Given the description of an element on the screen output the (x, y) to click on. 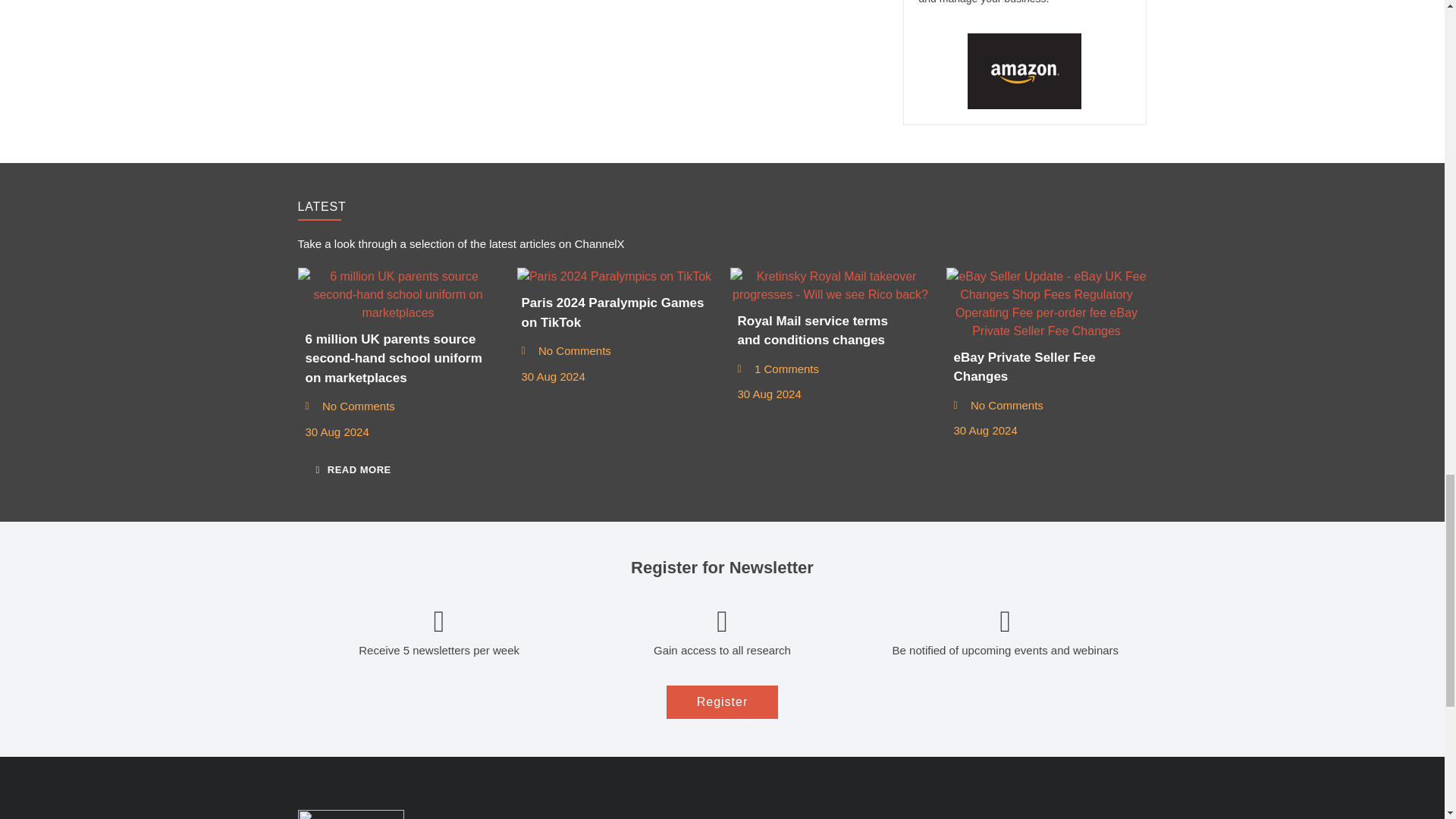
eBay-Seller-Release-Fees (1046, 303)
TikTok Teams-up with International Paralympic Committee (613, 276)
